Given the description of an element on the screen output the (x, y) to click on. 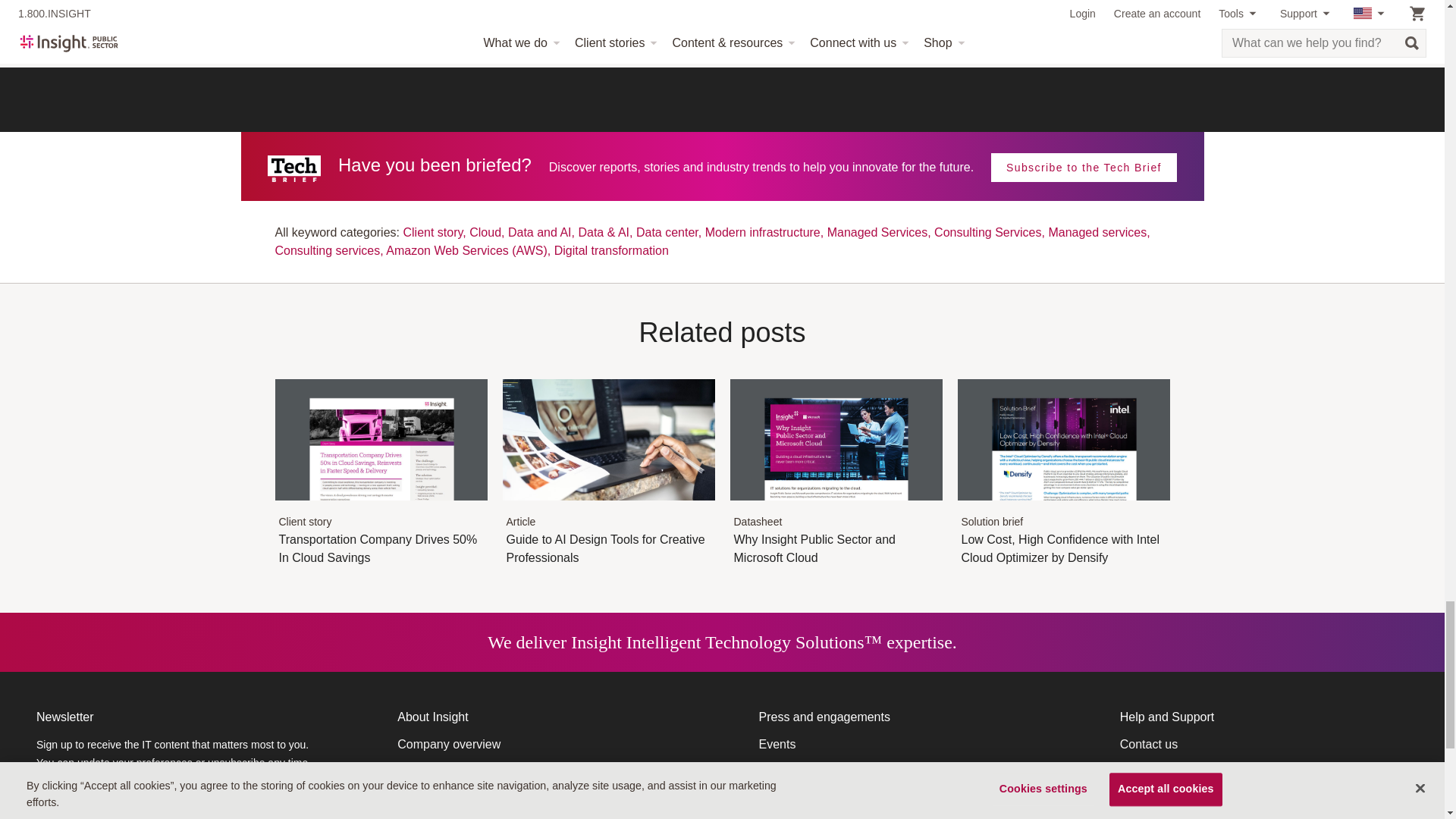
Guide to AI Design Tools for Creative Professionals  (608, 508)
Why Insight Public Sector and Microsoft Cloud (835, 508)
